Given the description of an element on the screen output the (x, y) to click on. 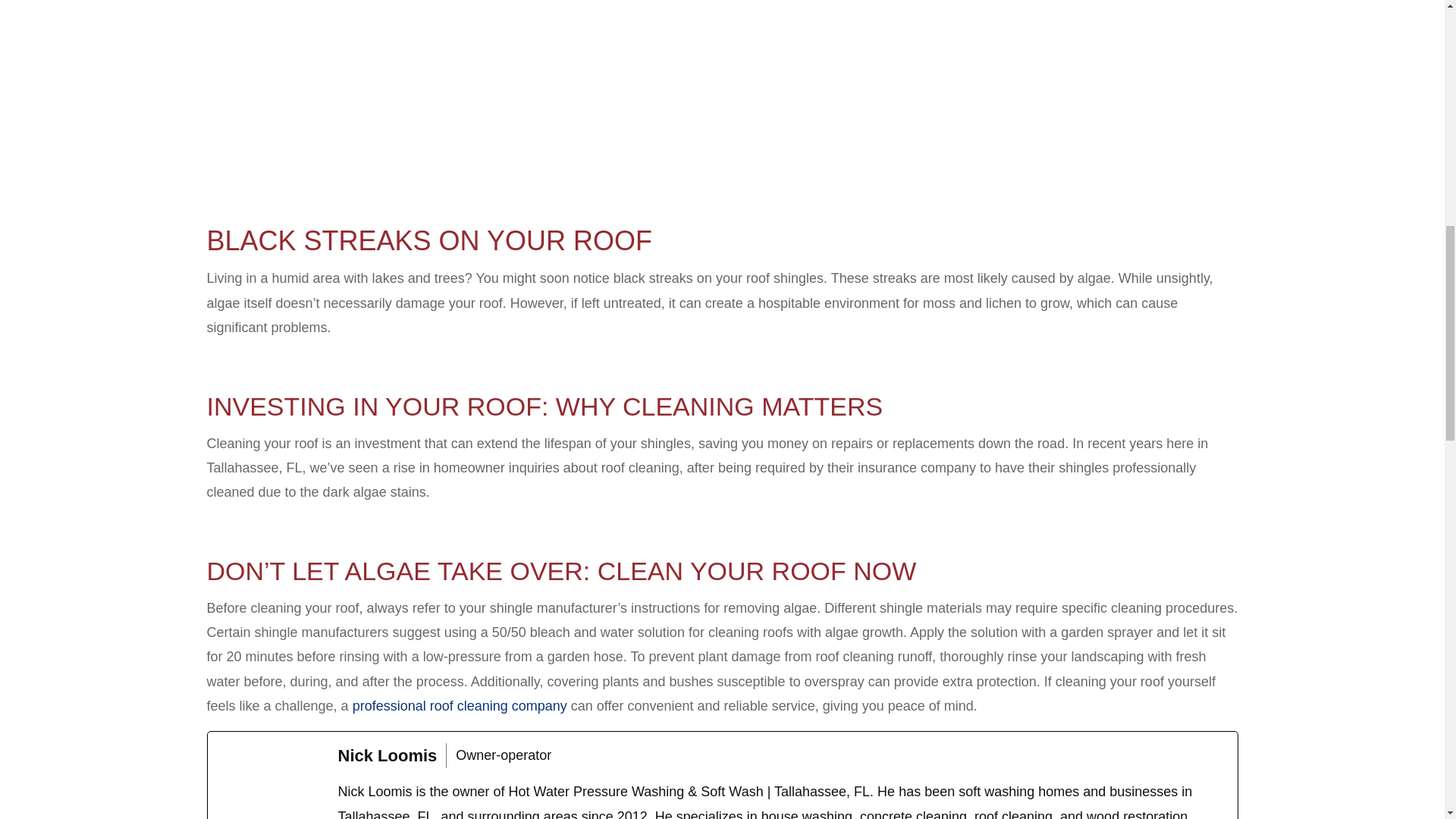
Roof Cleaning (459, 705)
professional roof cleaning company (459, 705)
